Given the description of an element on the screen output the (x, y) to click on. 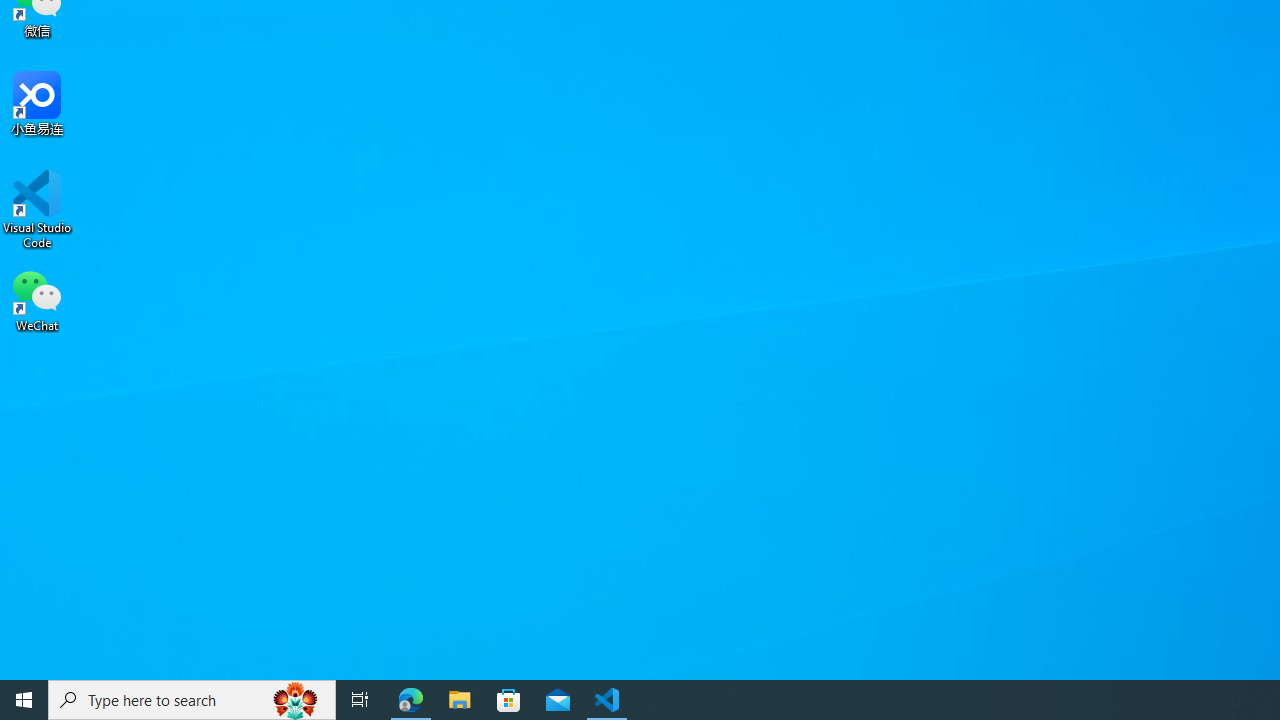
WeChat (37, 299)
Start (24, 699)
Visual Studio Code (37, 209)
Microsoft Store (509, 699)
Microsoft Edge - 1 running window (411, 699)
File Explorer (460, 699)
Search highlights icon opens search home window (295, 699)
Visual Studio Code - 1 running window (607, 699)
Type here to search (191, 699)
Task View (359, 699)
